Given the description of an element on the screen output the (x, y) to click on. 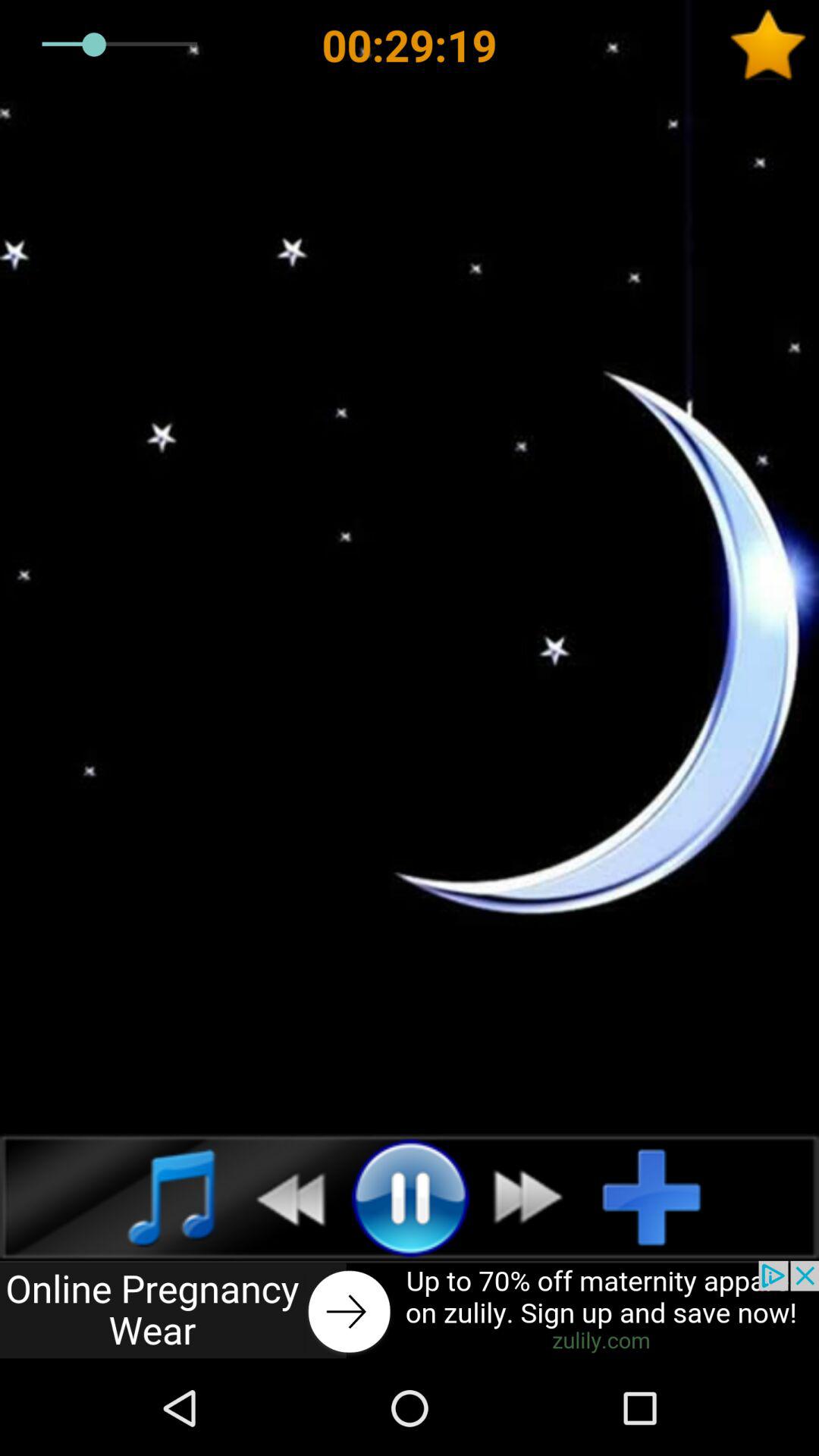
go back (409, 1310)
